Given the description of an element on the screen output the (x, y) to click on. 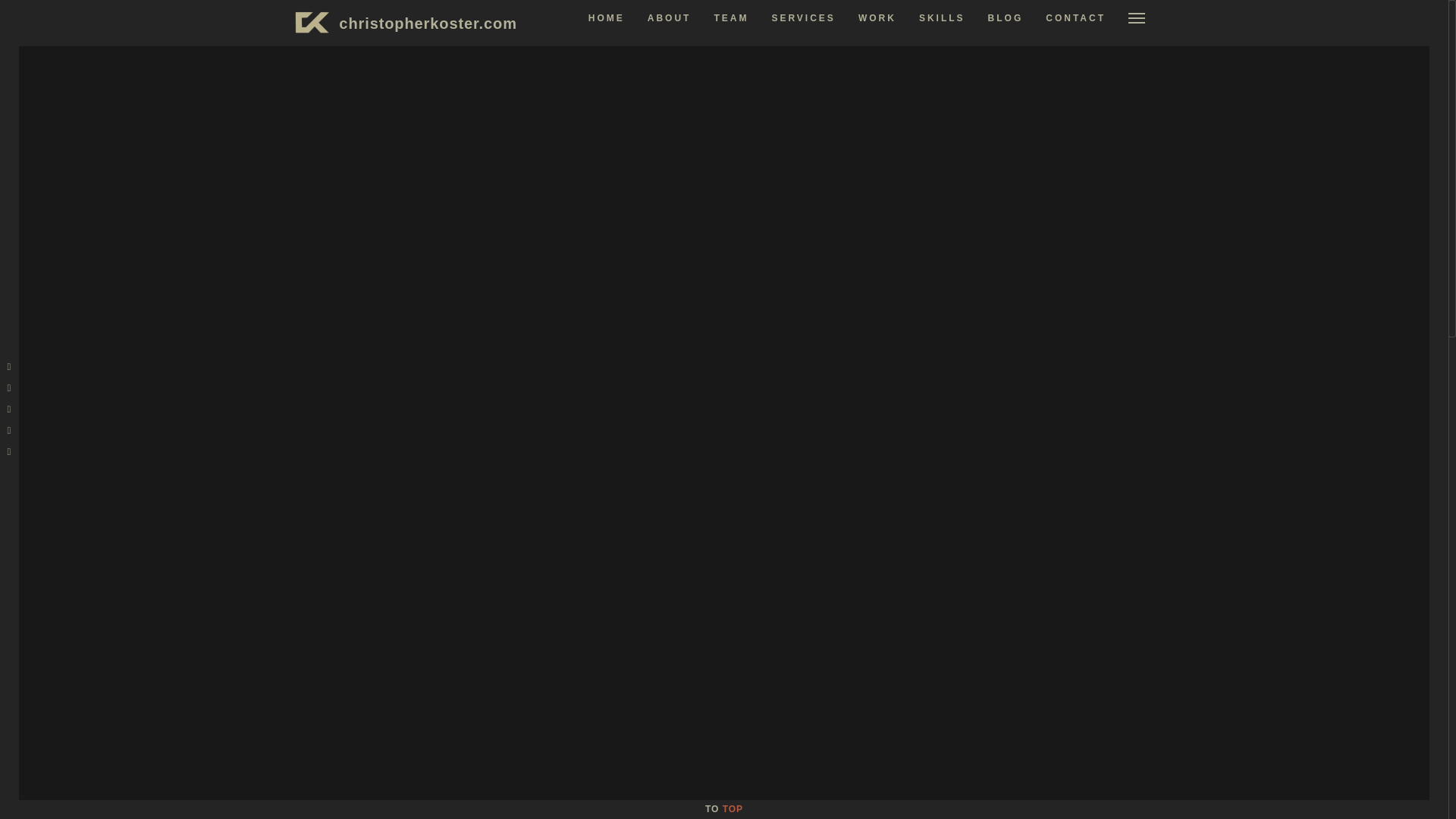
HOME (606, 17)
christopherkoster.com (427, 23)
TO TOP (723, 808)
Posts in this category test post formats. (990, 473)
View all posts in Blog (430, 256)
SKILLS (941, 17)
BLOG (1005, 17)
TEAM (730, 17)
ABOUT (669, 17)
WORK (877, 17)
